Given the description of an element on the screen output the (x, y) to click on. 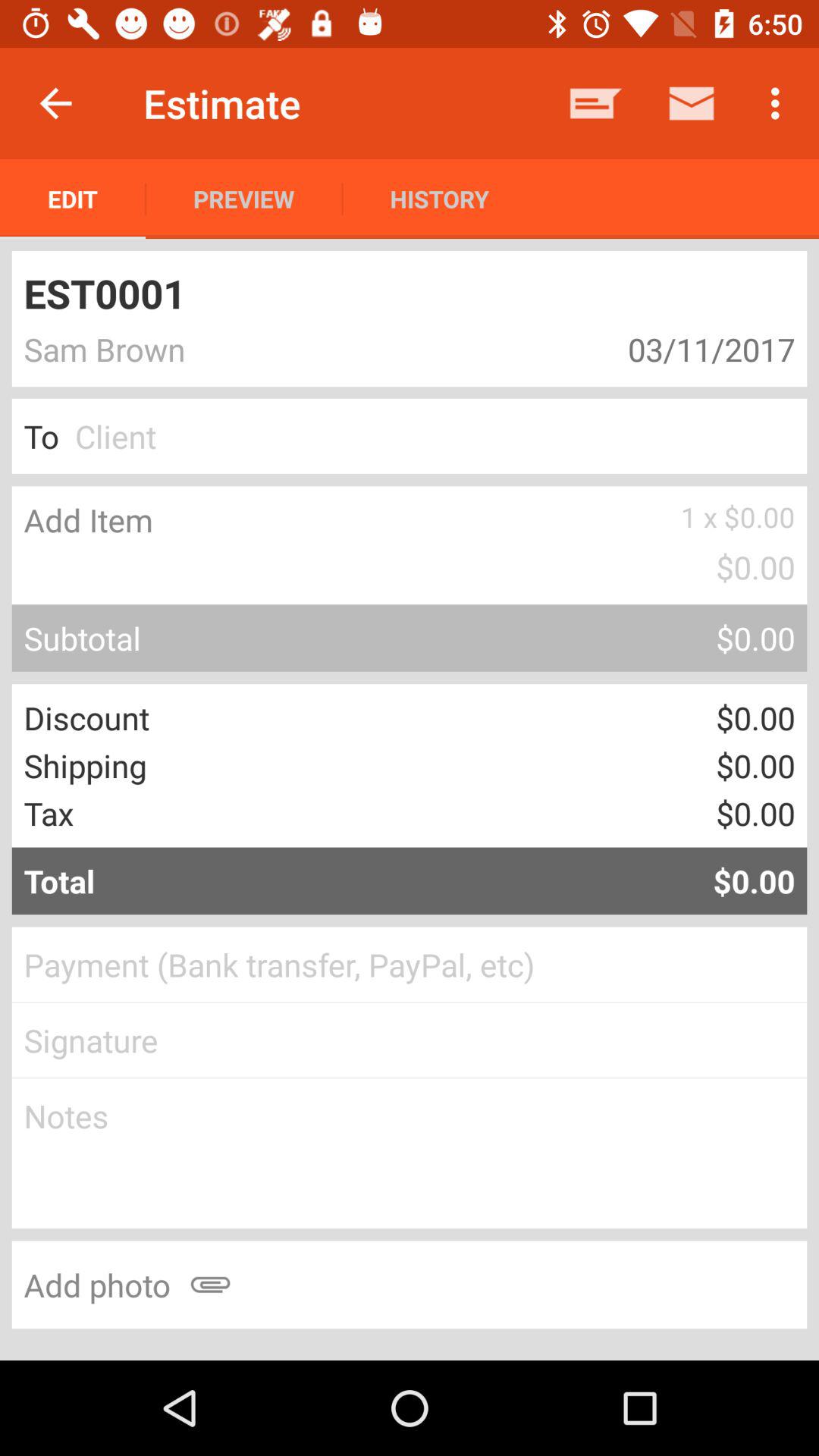
swipe to history app (439, 198)
